Given the description of an element on the screen output the (x, y) to click on. 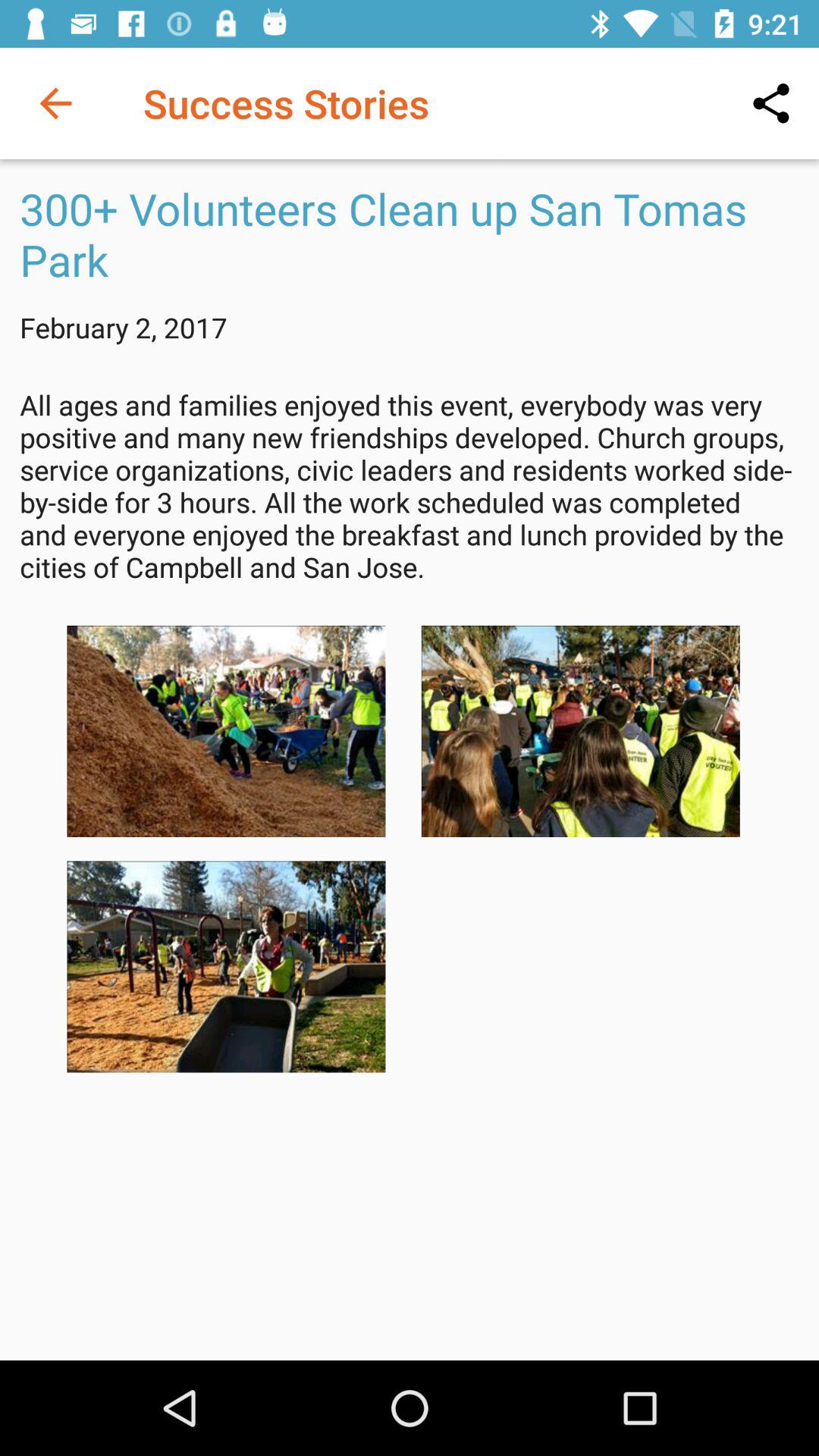
open image (580, 731)
